Given the description of an element on the screen output the (x, y) to click on. 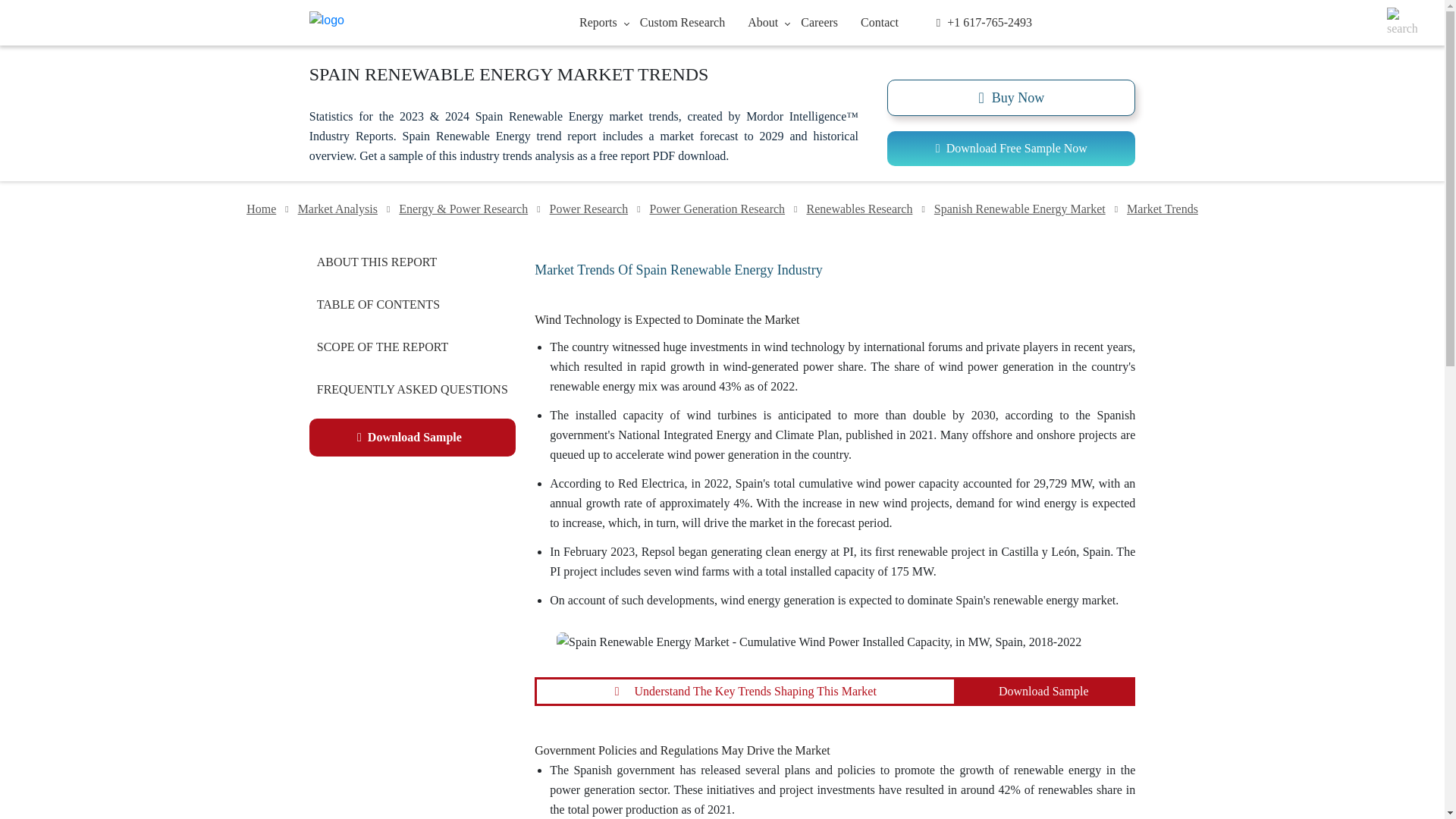
Contact (879, 21)
About (762, 21)
Home (261, 208)
Power Generation Research (717, 208)
Go to Mordor's home page (400, 22)
Buy Now (1010, 97)
Download Free Sample Now (1010, 148)
Careers (819, 21)
Renewables Research (859, 208)
Market Analysis (337, 208)
Reports (598, 21)
Custom Research (682, 21)
Power Research (589, 208)
